Given the description of an element on the screen output the (x, y) to click on. 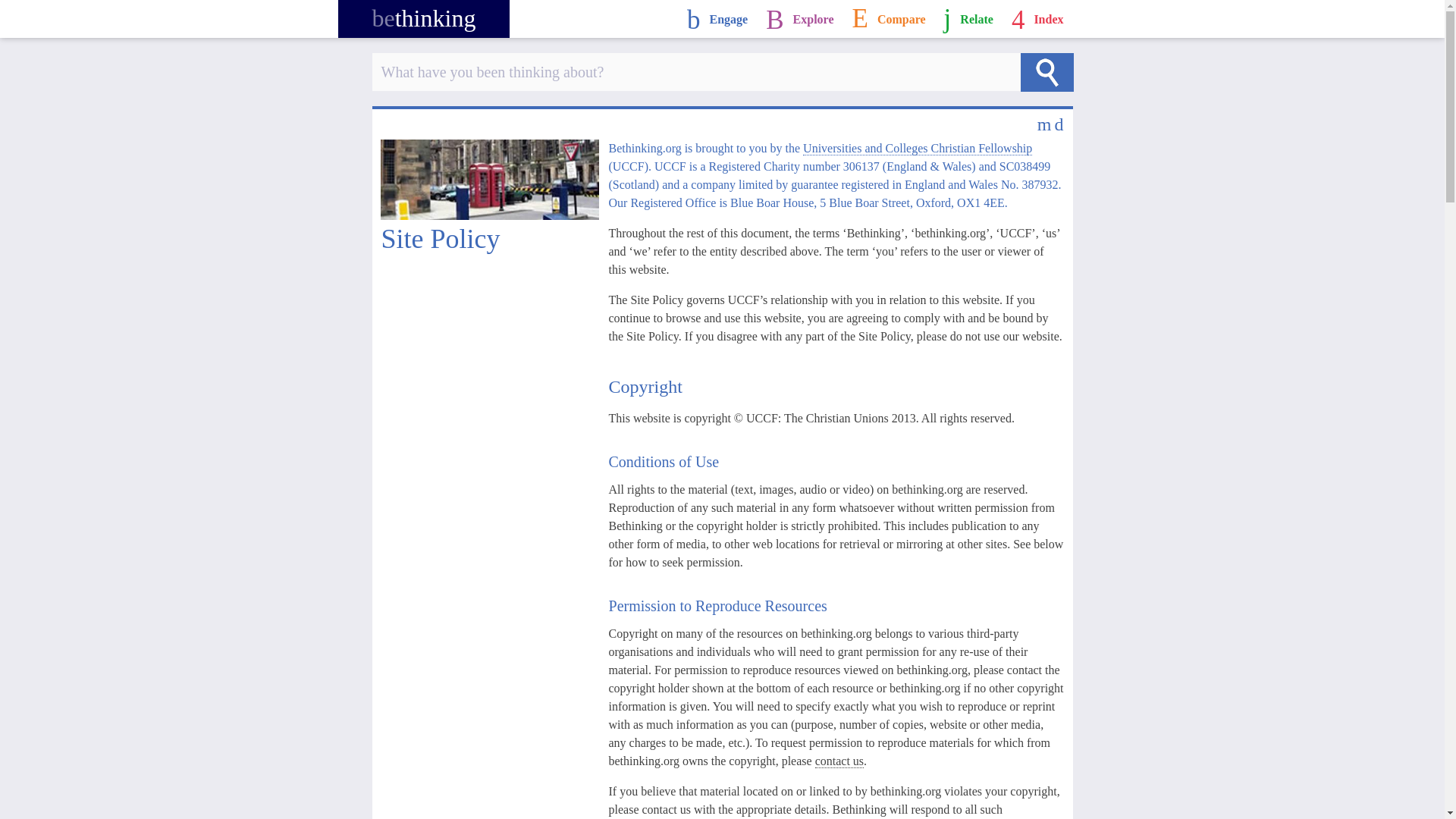
Search (1047, 72)
Compare (888, 18)
Search (1047, 72)
bethinking (423, 17)
Explore (798, 18)
Index (1037, 18)
Engage (717, 18)
Relate (967, 18)
